Given the description of an element on the screen output the (x, y) to click on. 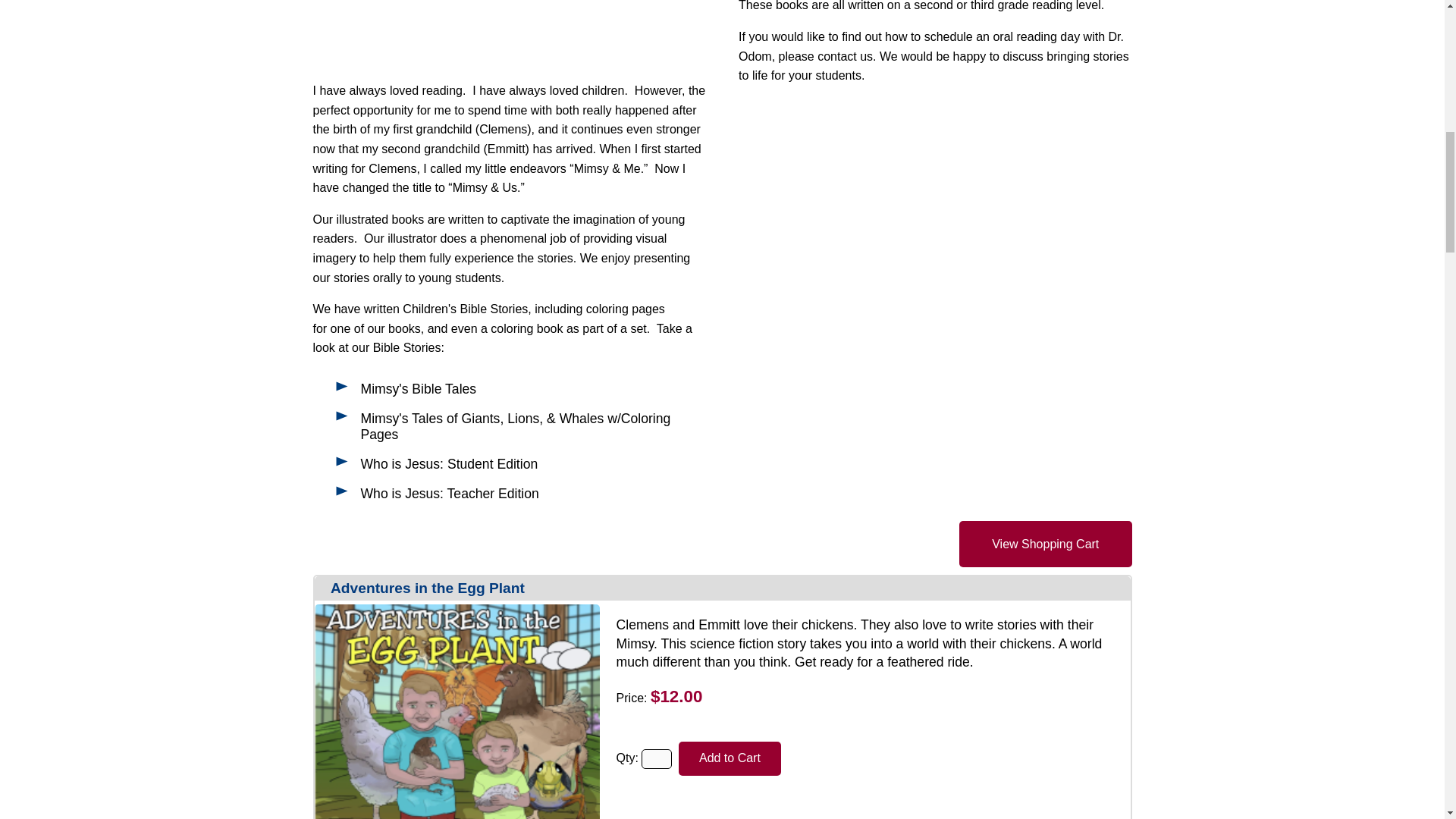
Add to Cart (729, 758)
View Shopping Cart (1045, 543)
View Shopping Cart (1045, 543)
Add to Cart (729, 758)
